Given the description of an element on the screen output the (x, y) to click on. 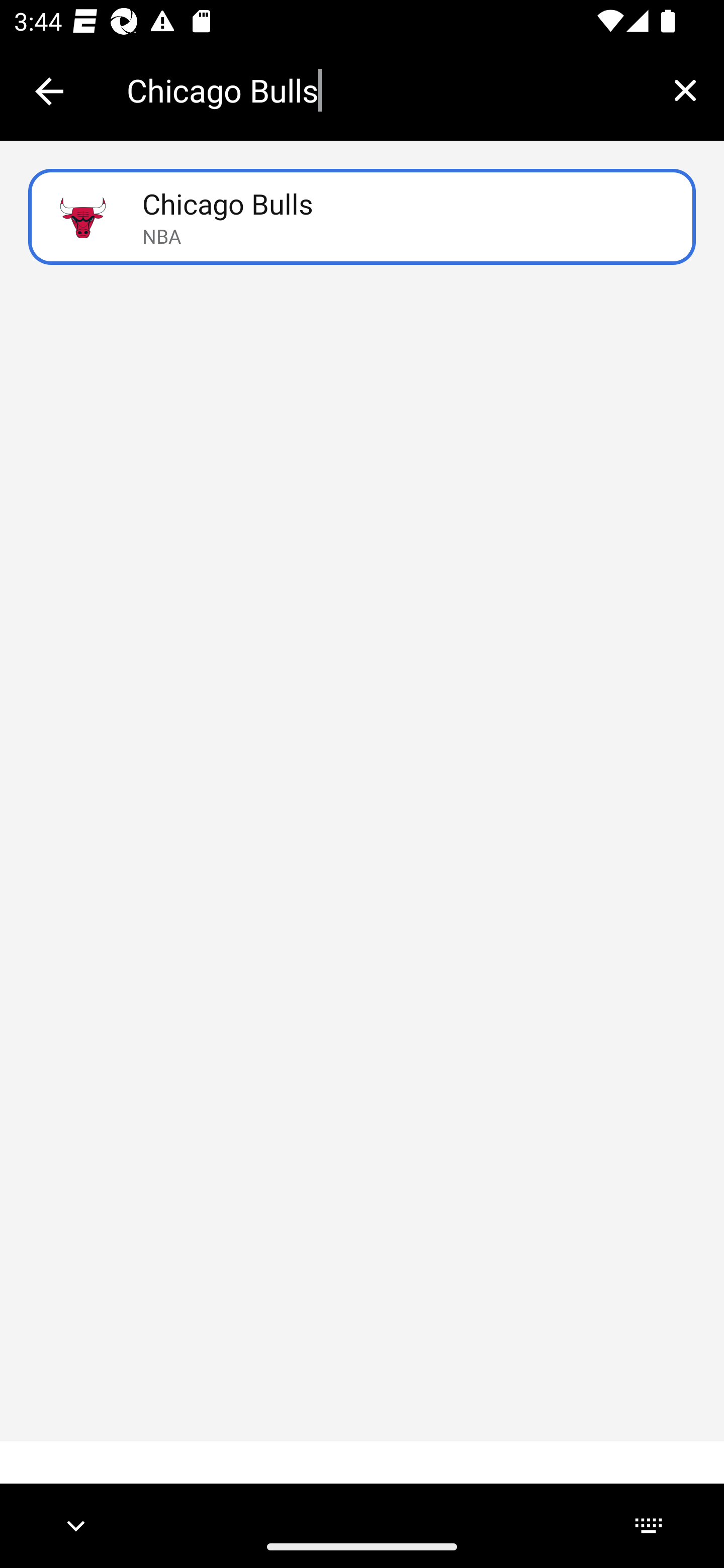
Collapse (49, 91)
Clear query (685, 89)
Chicago Bulls (386, 90)
Chicago Bulls Chicago BullsSelected NBA (361, 216)
